Given the description of an element on the screen output the (x, y) to click on. 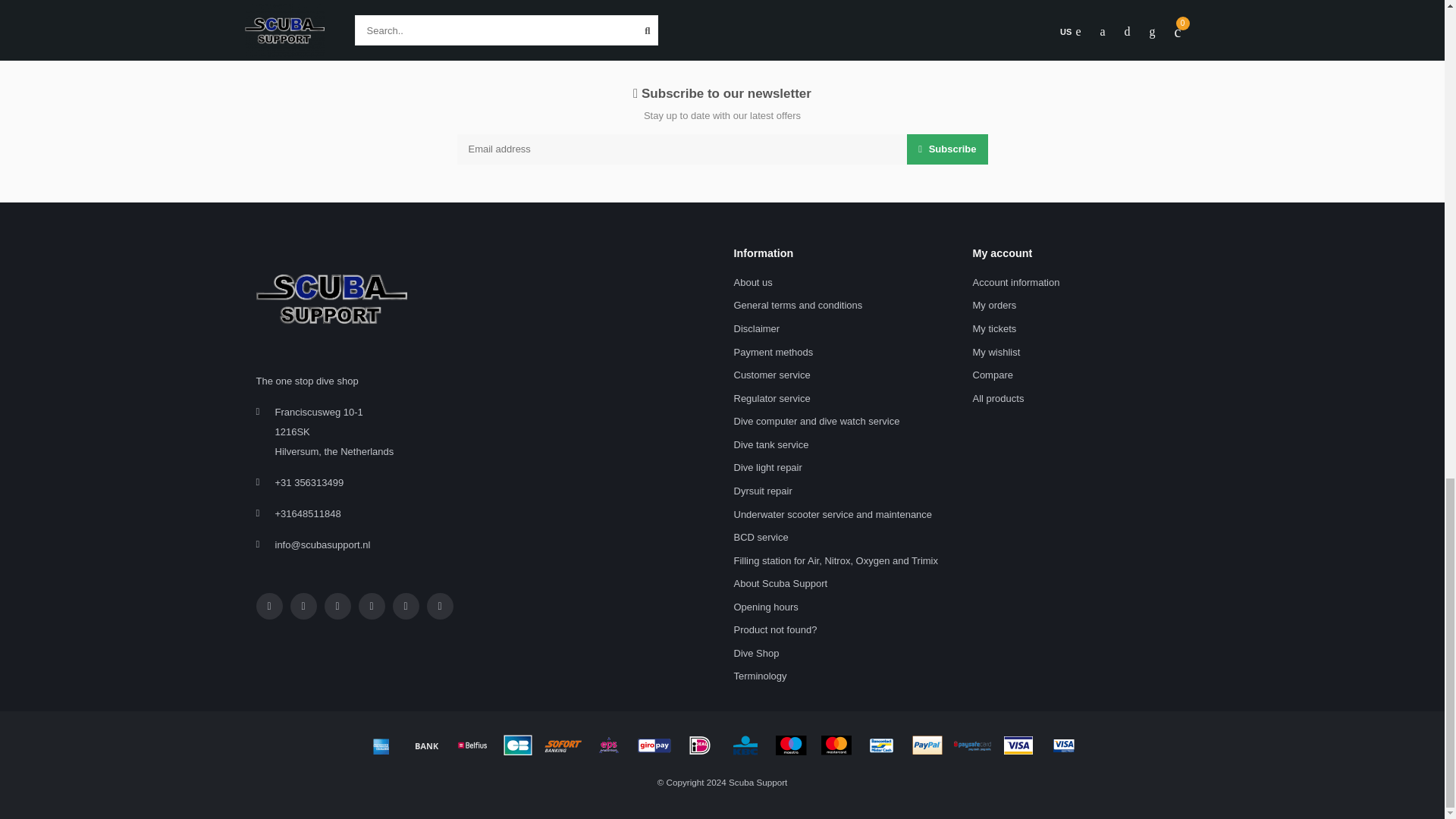
General terms and conditions (798, 305)
About us (753, 282)
